Given the description of an element on the screen output the (x, y) to click on. 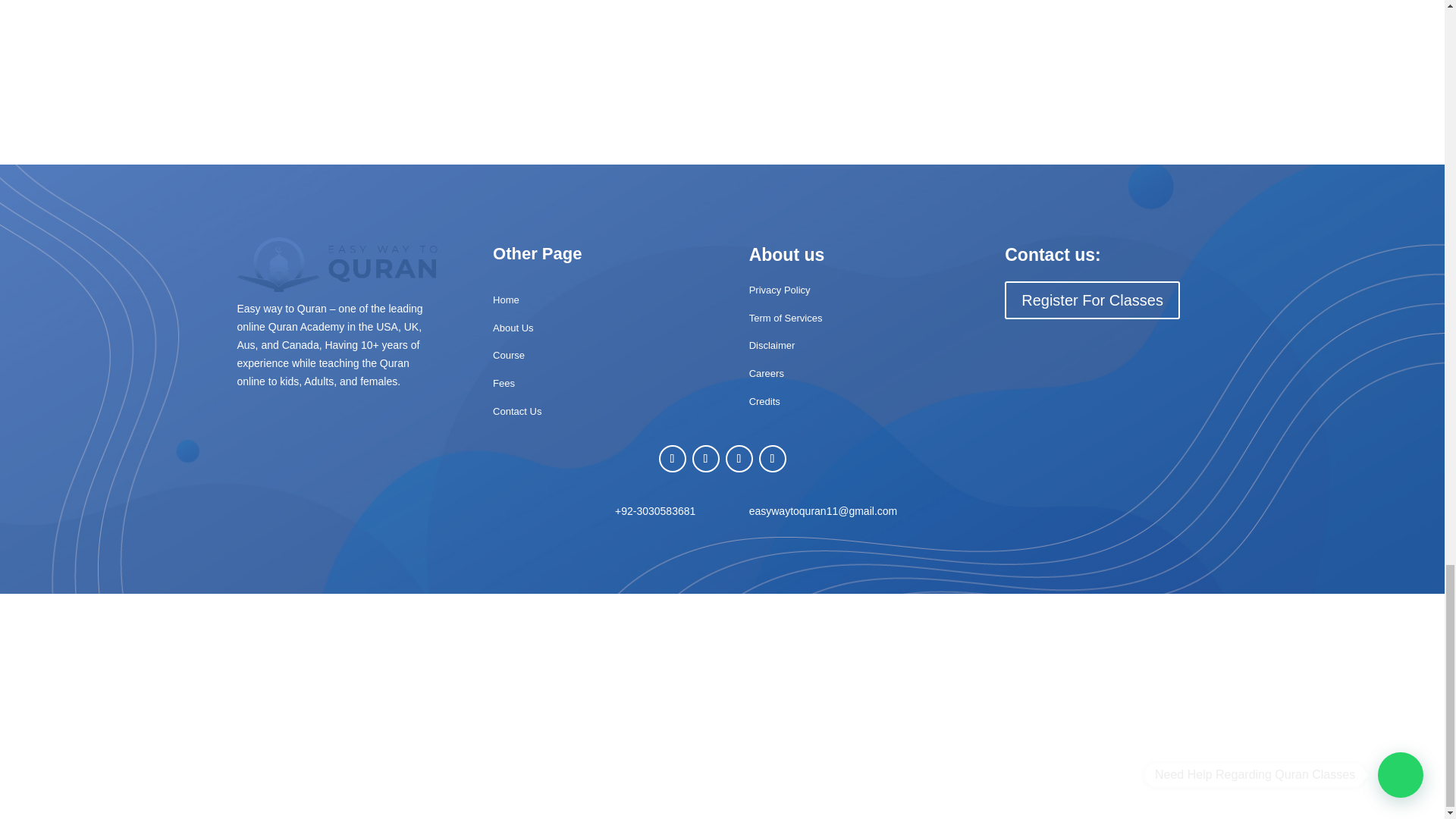
Follow on Facebook (671, 458)
Follow on Youtube (772, 458)
Logo-Design-Final-for-Web (337, 264)
Follow on Instagram (738, 458)
Follow on X (705, 458)
